Given the description of an element on the screen output the (x, y) to click on. 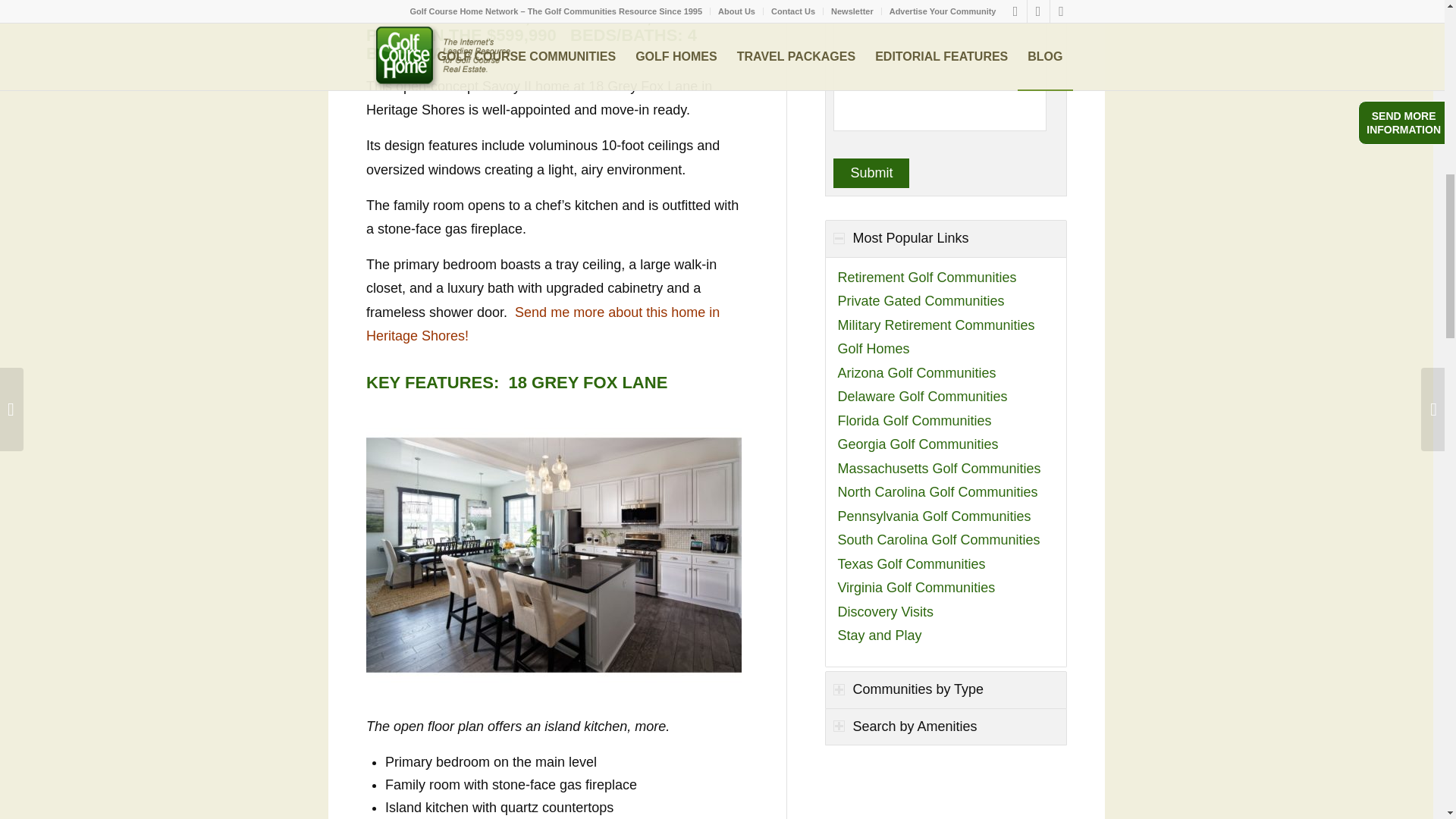
Submit (870, 173)
Send me more about this home in Heritage Shores! (542, 323)
